Given the description of an element on the screen output the (x, y) to click on. 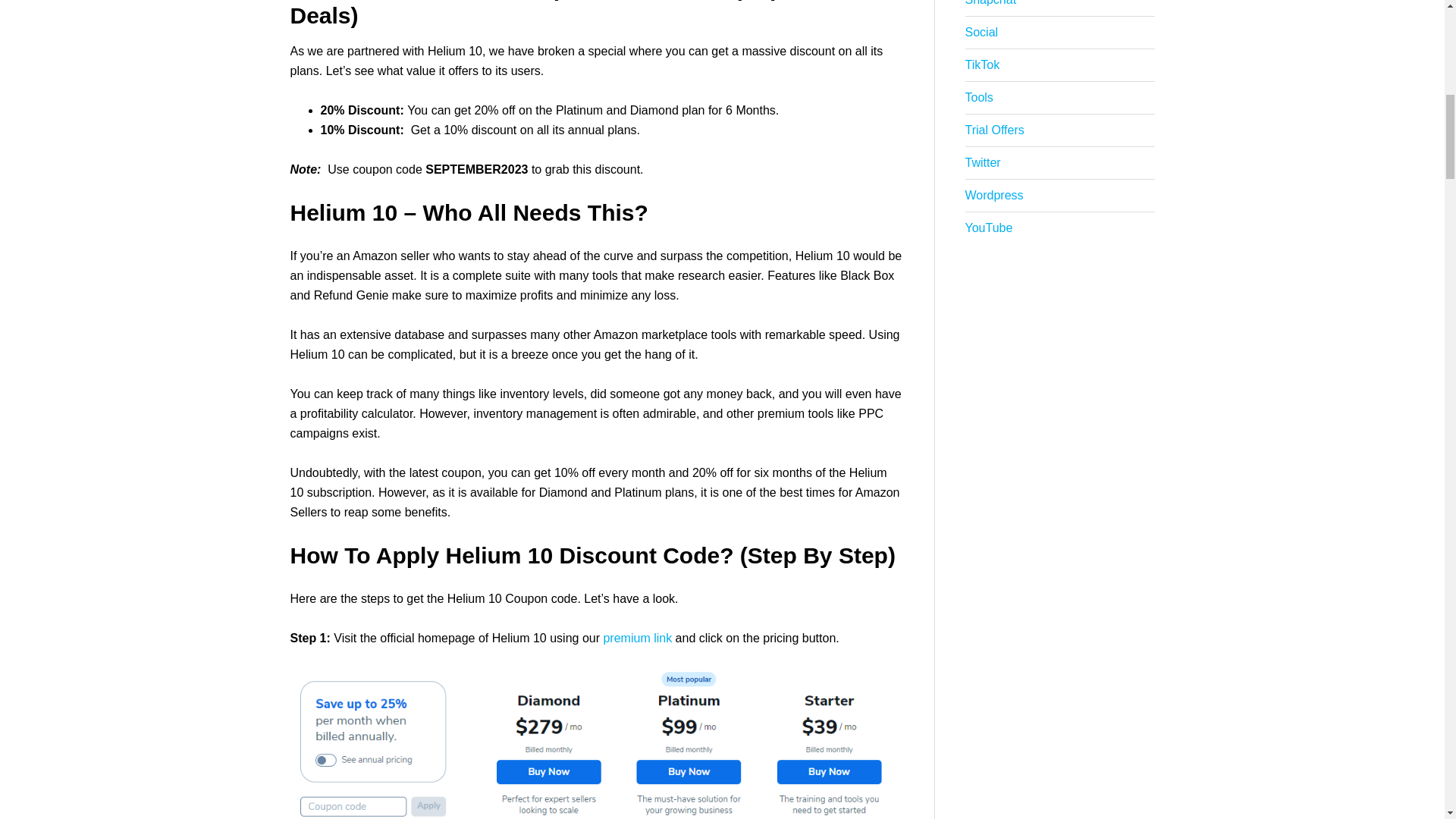
Snapchat (989, 2)
Twitter (981, 162)
Wordpress (993, 195)
Trial Offers (993, 129)
Helium 10 Pricing (595, 743)
Social (980, 31)
Tools (977, 97)
TikTok (980, 64)
premium link (636, 637)
